Given the description of an element on the screen output the (x, y) to click on. 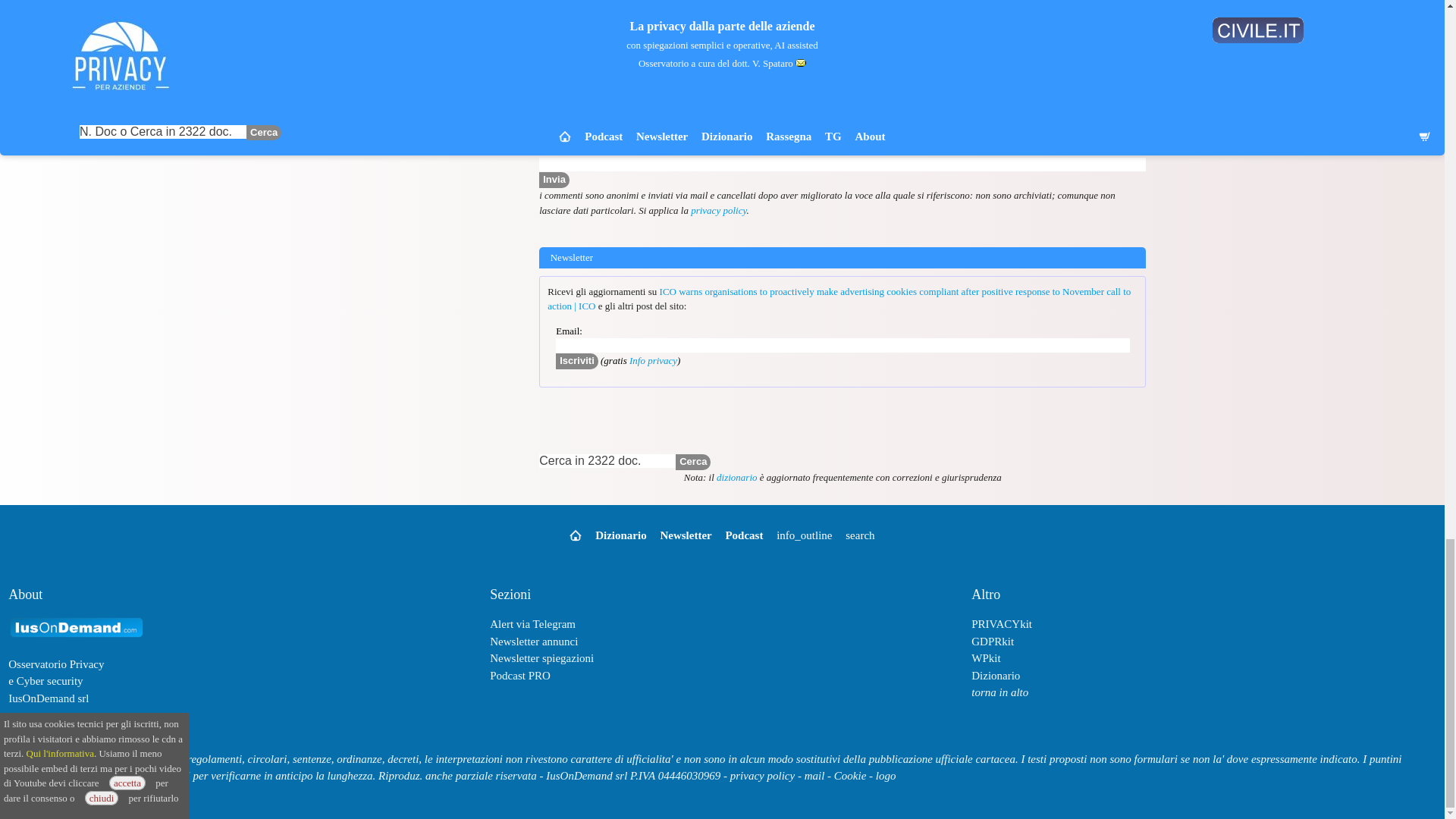
Invia (1039, 134)
Iscriviti (577, 360)
Invia (553, 179)
Cerca (692, 462)
